Given the description of an element on the screen output the (x, y) to click on. 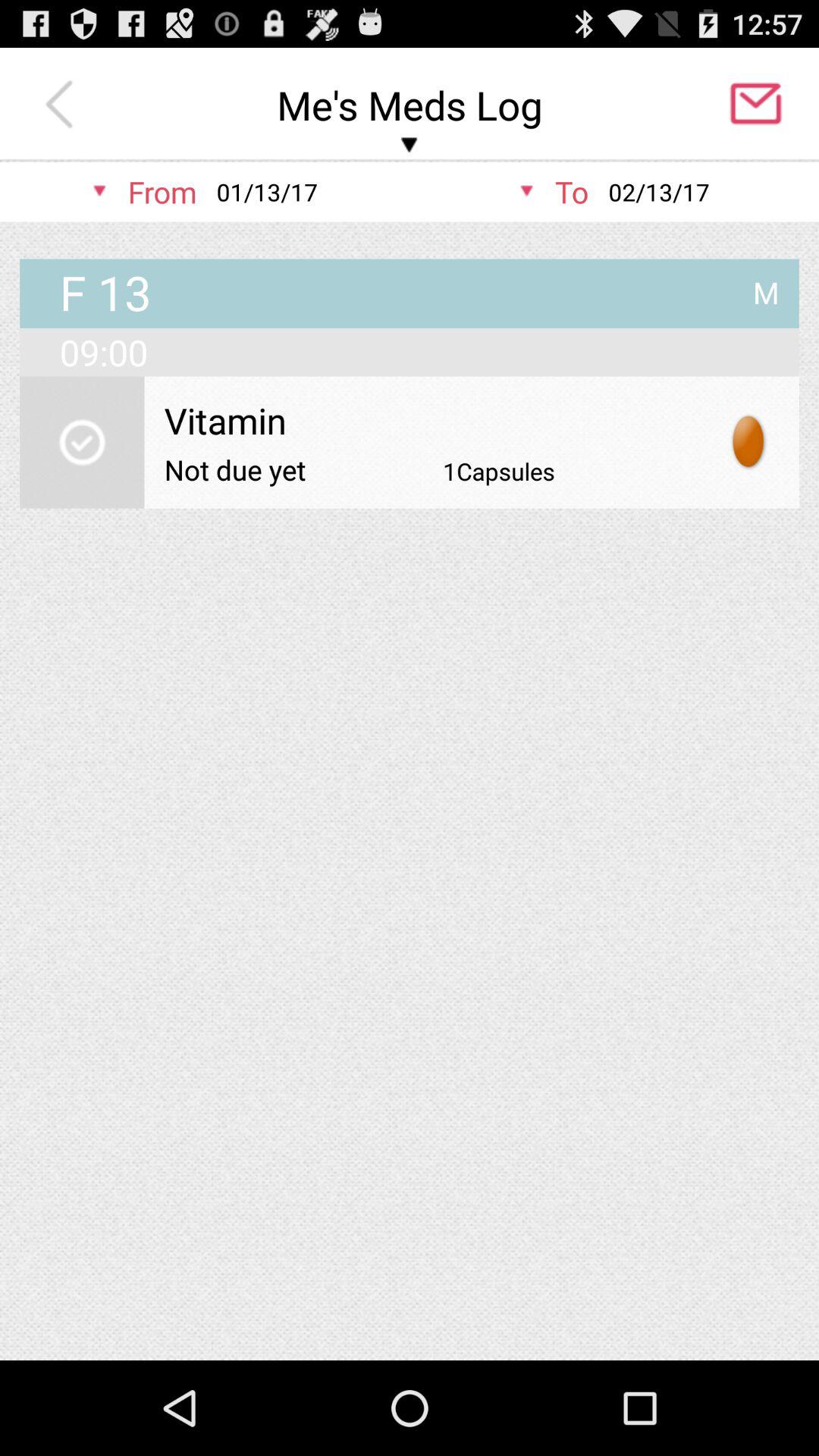
turn off the item next to the m icon (105, 294)
